Given the description of an element on the screen output the (x, y) to click on. 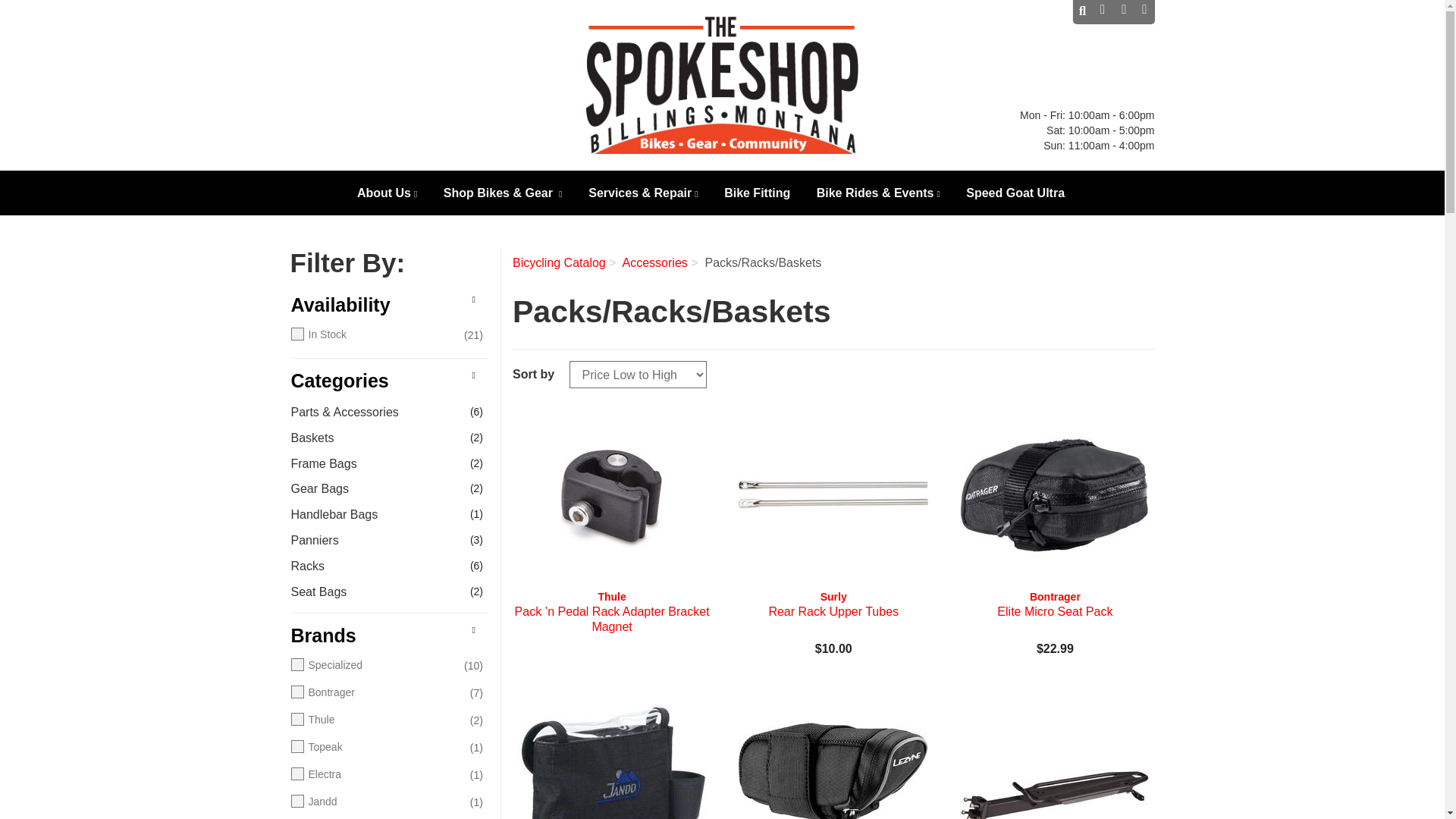
Handlebar Bags (374, 515)
About Us (387, 196)
Baskets (374, 438)
Gear Bags (374, 488)
The Spoke Shop Home Page (722, 84)
Frame Bags (374, 464)
